Given the description of an element on the screen output the (x, y) to click on. 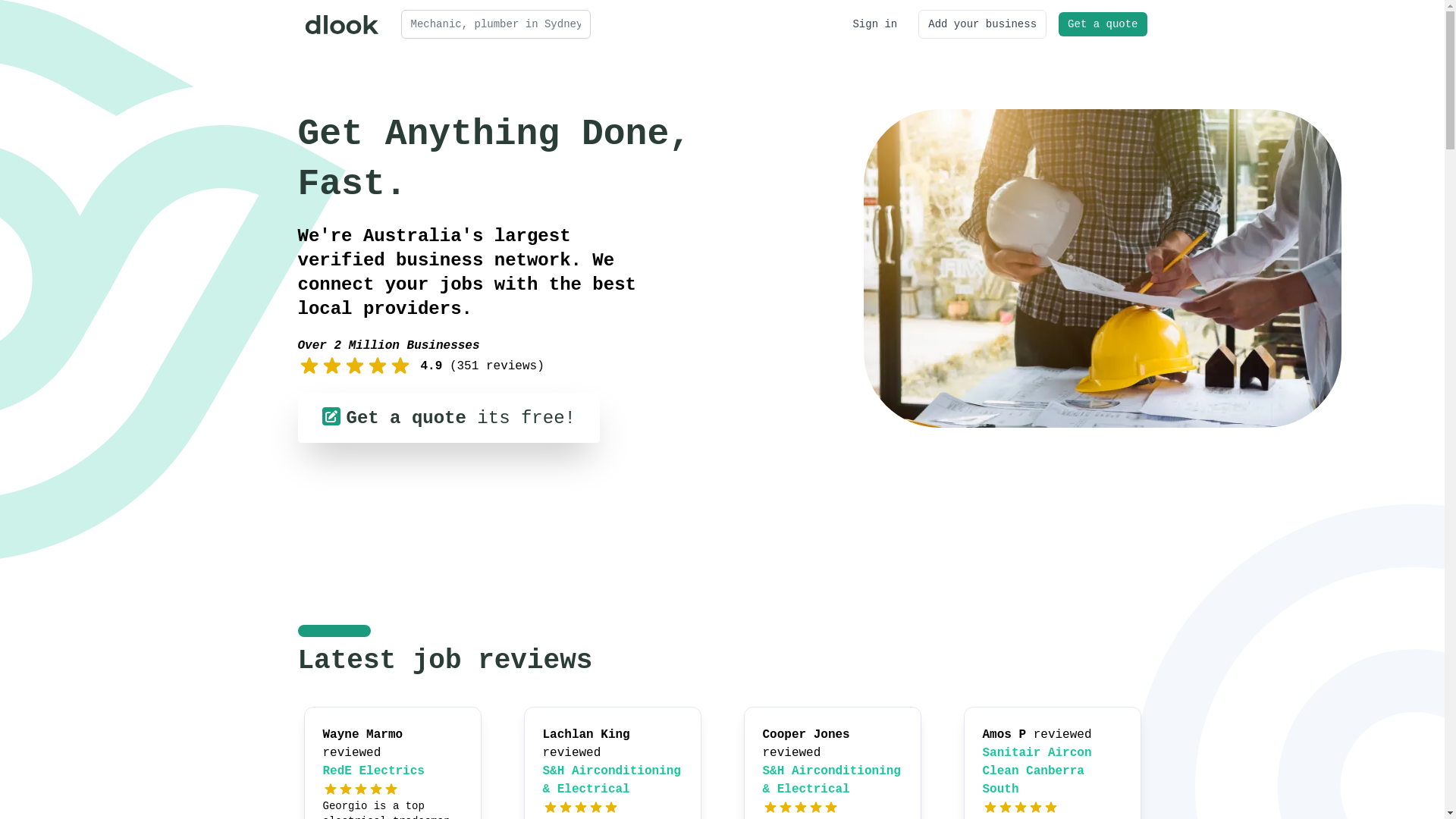
RedE Electrics Element type: text (373, 771)
Sanitair Aircon Clean Canberra South Element type: text (1037, 771)
Sign in Element type: text (874, 23)
S&H Airconditioning & Electrical Element type: text (611, 780)
Add your business Element type: text (982, 23)
Get a quote its free! Element type: text (448, 417)
S&H Airconditioning & Electrical Element type: text (831, 780)
Get a quote Element type: text (1102, 24)
